Given the description of an element on the screen output the (x, y) to click on. 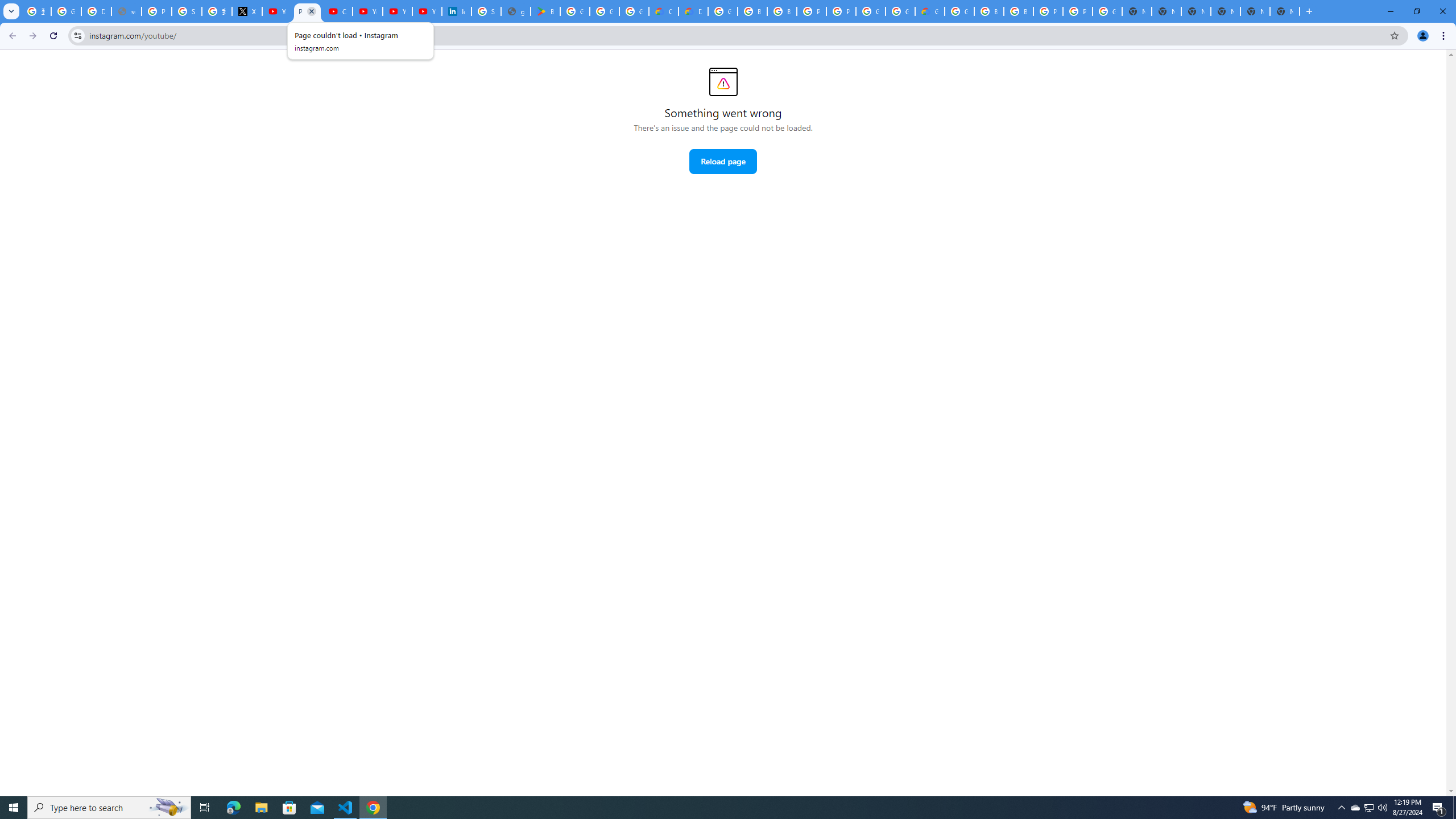
Error (723, 81)
New Tab (1166, 11)
Browse Chrome as a guest - Computer - Google Chrome Help (989, 11)
Google Workspace - Specific Terms (633, 11)
Browse Chrome as a guest - Computer - Google Chrome Help (781, 11)
Sign in - Google Accounts (485, 11)
Google Cloud Platform (900, 11)
Google Cloud Platform (959, 11)
